Given the description of an element on the screen output the (x, y) to click on. 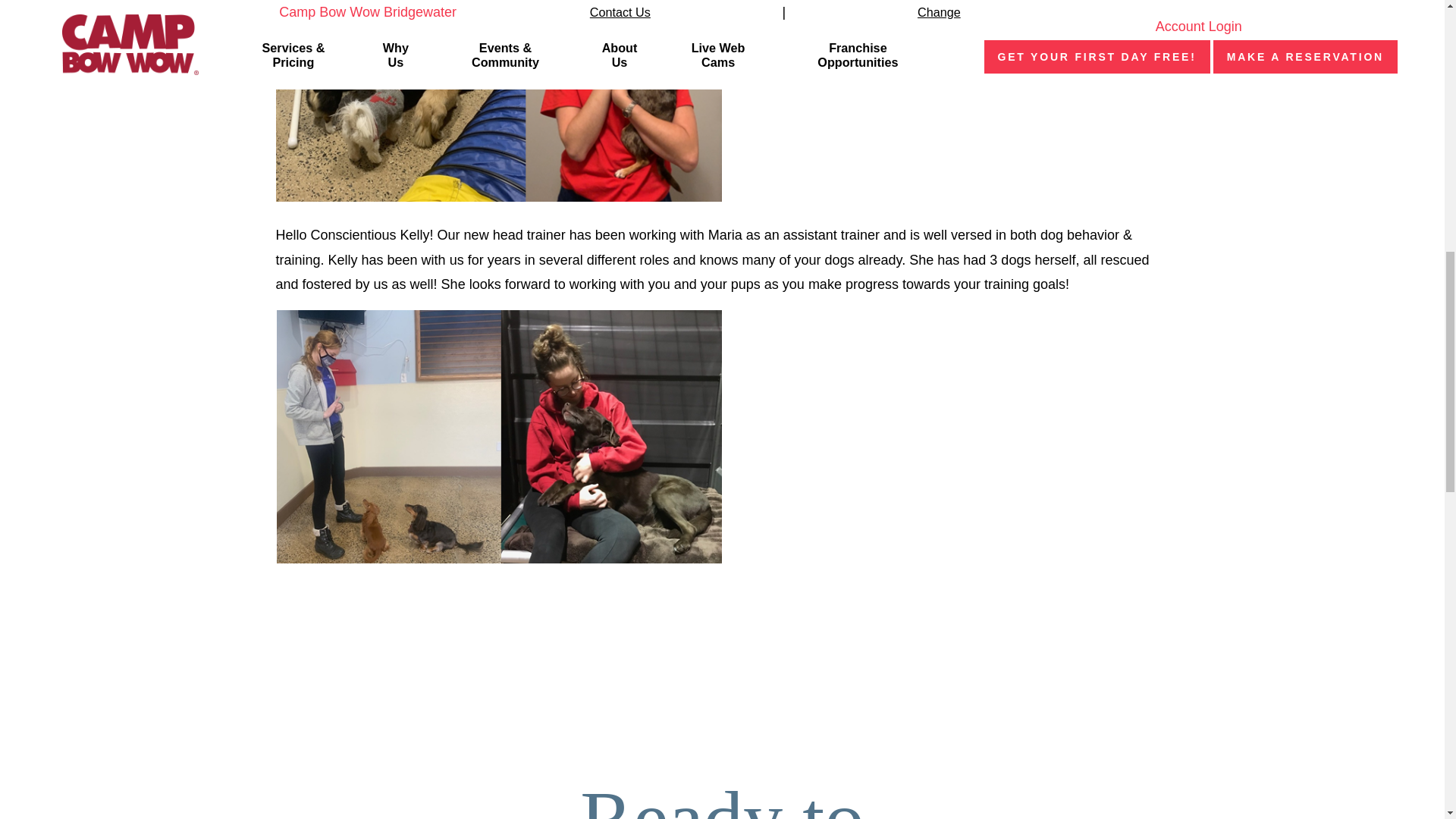
Click and drag to move (281, 595)
